Given the description of an element on the screen output the (x, y) to click on. 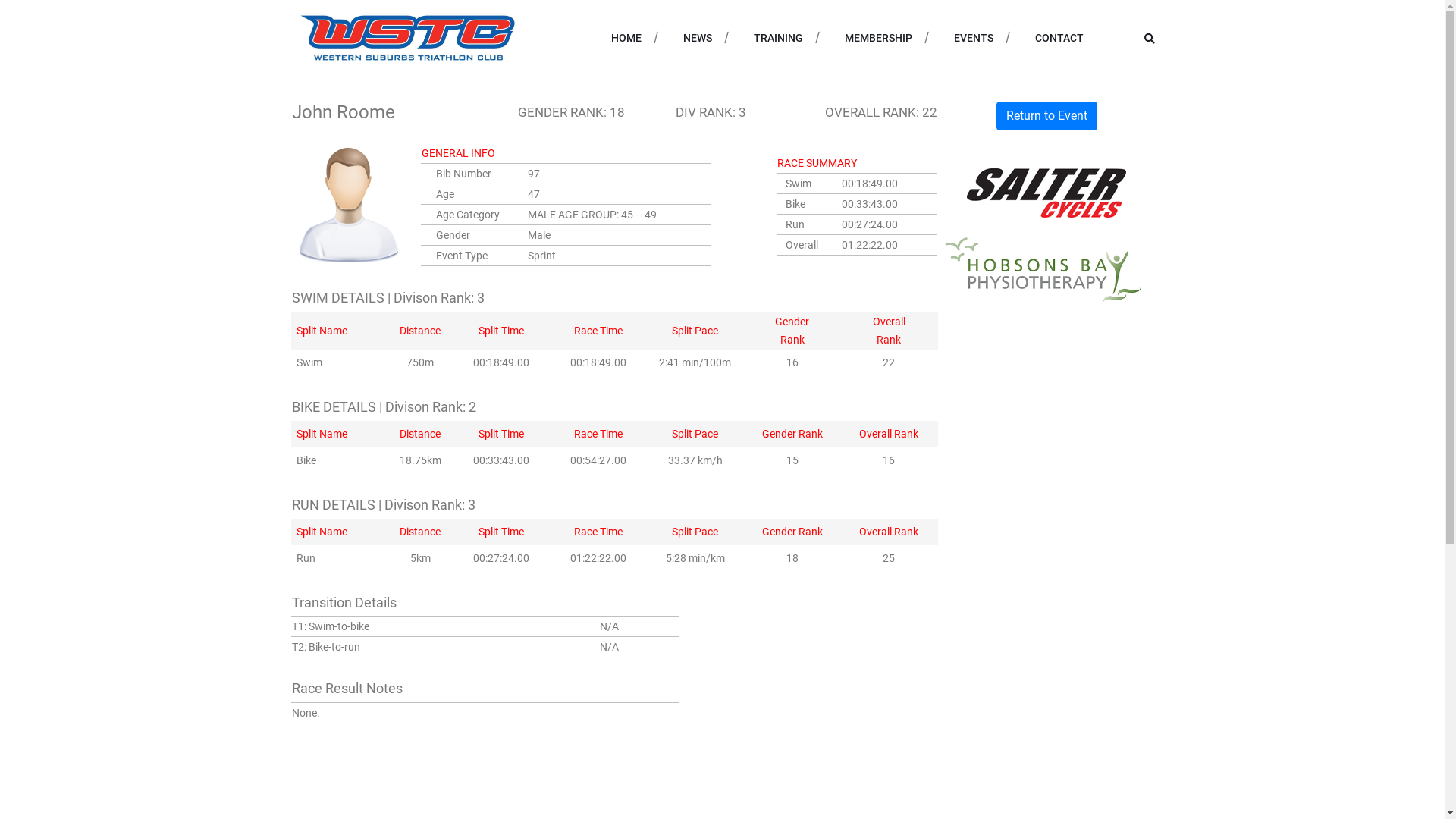
CONTACT Element type: text (1058, 37)
TRAINING Element type: text (778, 37)
EVENTS Element type: text (973, 37)
HOME Element type: text (626, 37)
MEMBERSHIP Element type: text (878, 37)
NEWS Element type: text (696, 37)
Return to Event Element type: text (1046, 115)
